Given the description of an element on the screen output the (x, y) to click on. 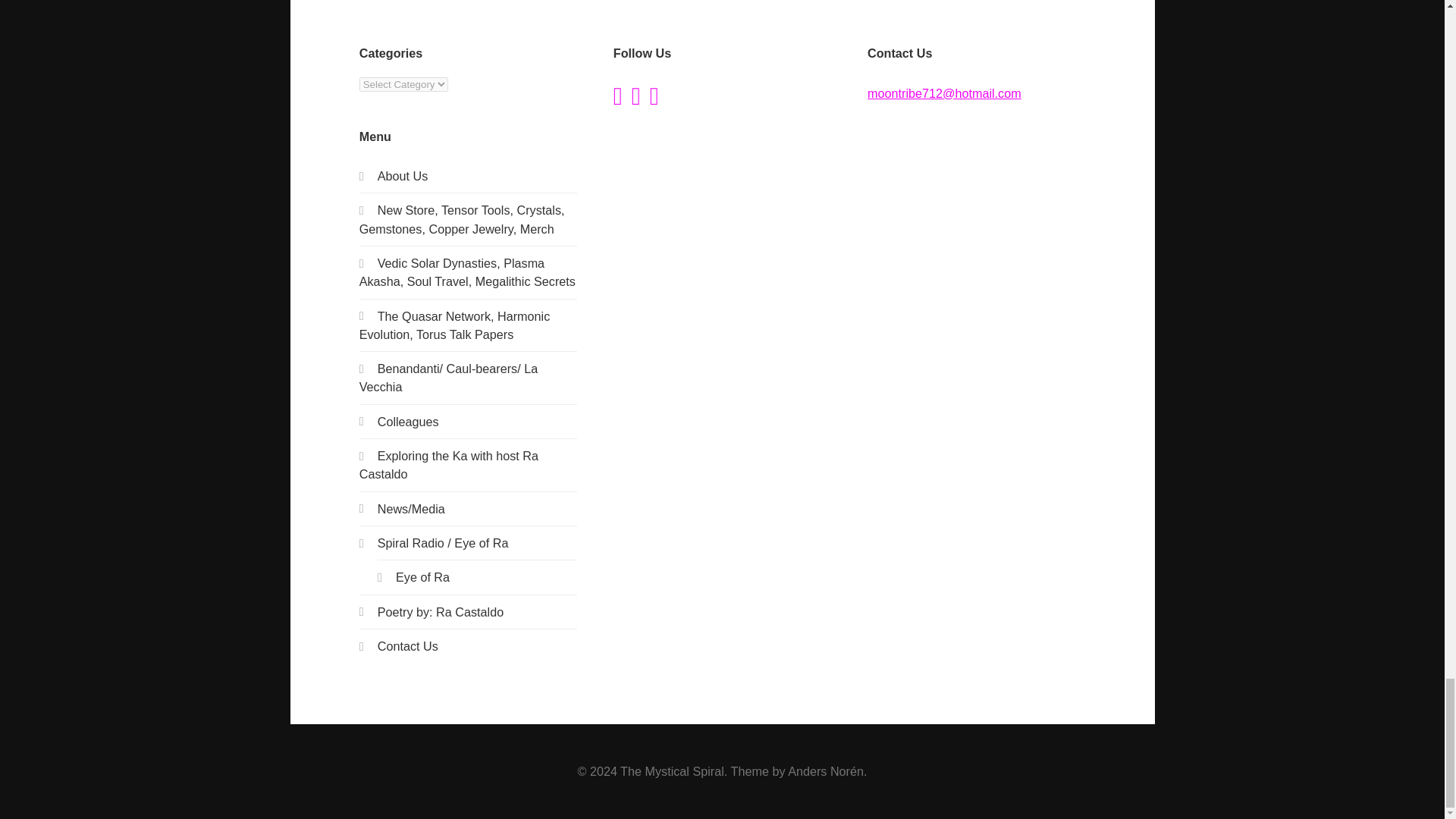
About Us (402, 175)
The mystical spiral (402, 175)
New Store, Crystals,Tensor tools, Copper Jewelry !!!! (461, 219)
Eye of Ra (422, 576)
Exploring the Ka with host Ra Castaldo (448, 464)
The Quasar Network, Harmonic Evolution, Torus Talk Papers (454, 325)
Colleagues (408, 421)
